Given the description of an element on the screen output the (x, y) to click on. 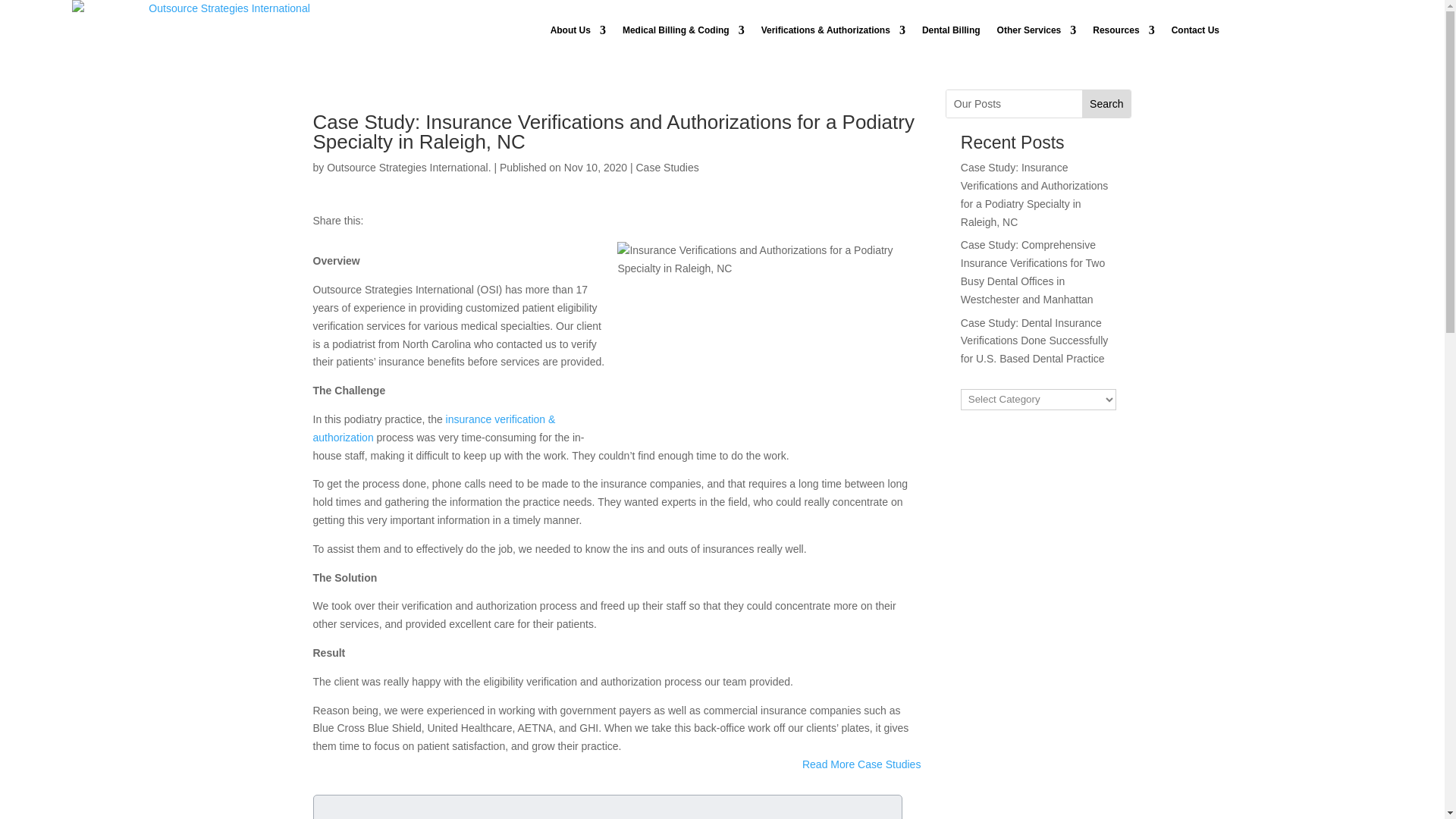
Search (1106, 103)
Other Services (1037, 30)
Resources (1123, 30)
Read More (861, 764)
Dental Billing (950, 30)
Outsource Strategies International. (408, 167)
Read More Case Studies (861, 764)
Case Studies (666, 167)
About Us (577, 30)
Posts by Outsource Strategies International. (408, 167)
